Given the description of an element on the screen output the (x, y) to click on. 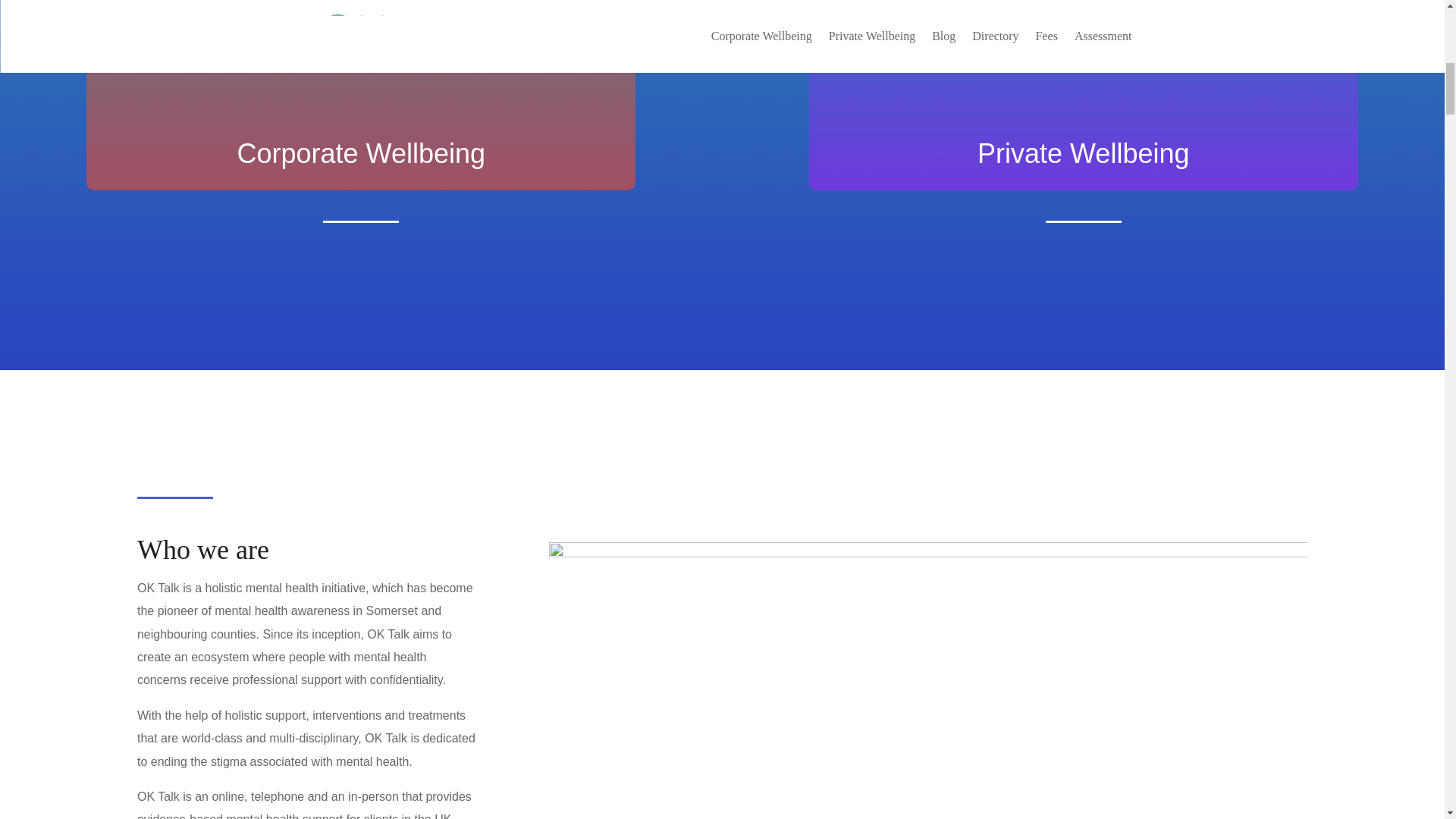
View (1083, 38)
View (360, 38)
